Given the description of an element on the screen output the (x, y) to click on. 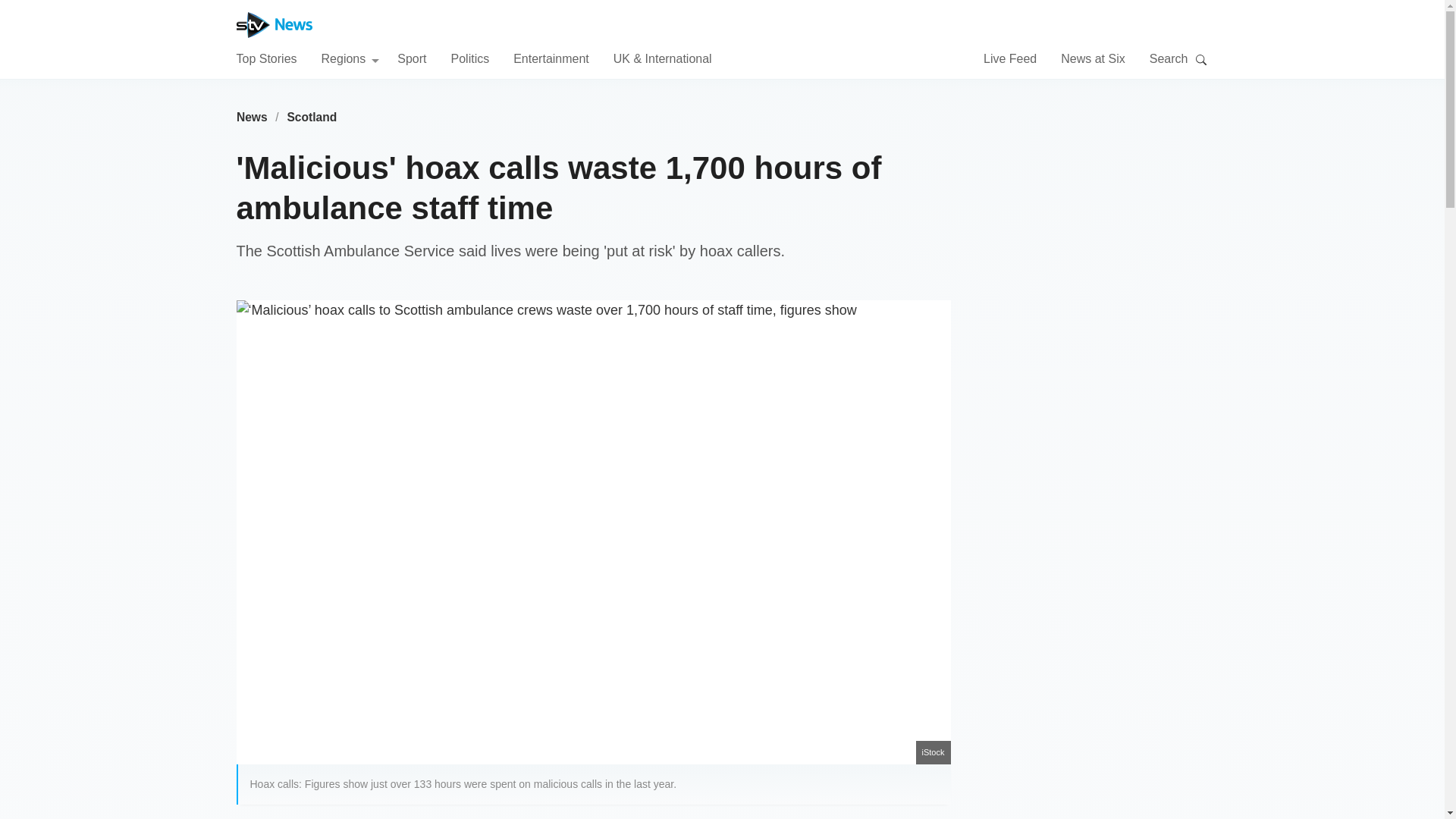
Search (1201, 59)
News at Six (1092, 57)
News (252, 116)
Live Feed (1010, 57)
Entertainment (551, 57)
Scotland (312, 116)
Regions (350, 57)
Politics (469, 57)
Top Stories (266, 57)
